Given the description of an element on the screen output the (x, y) to click on. 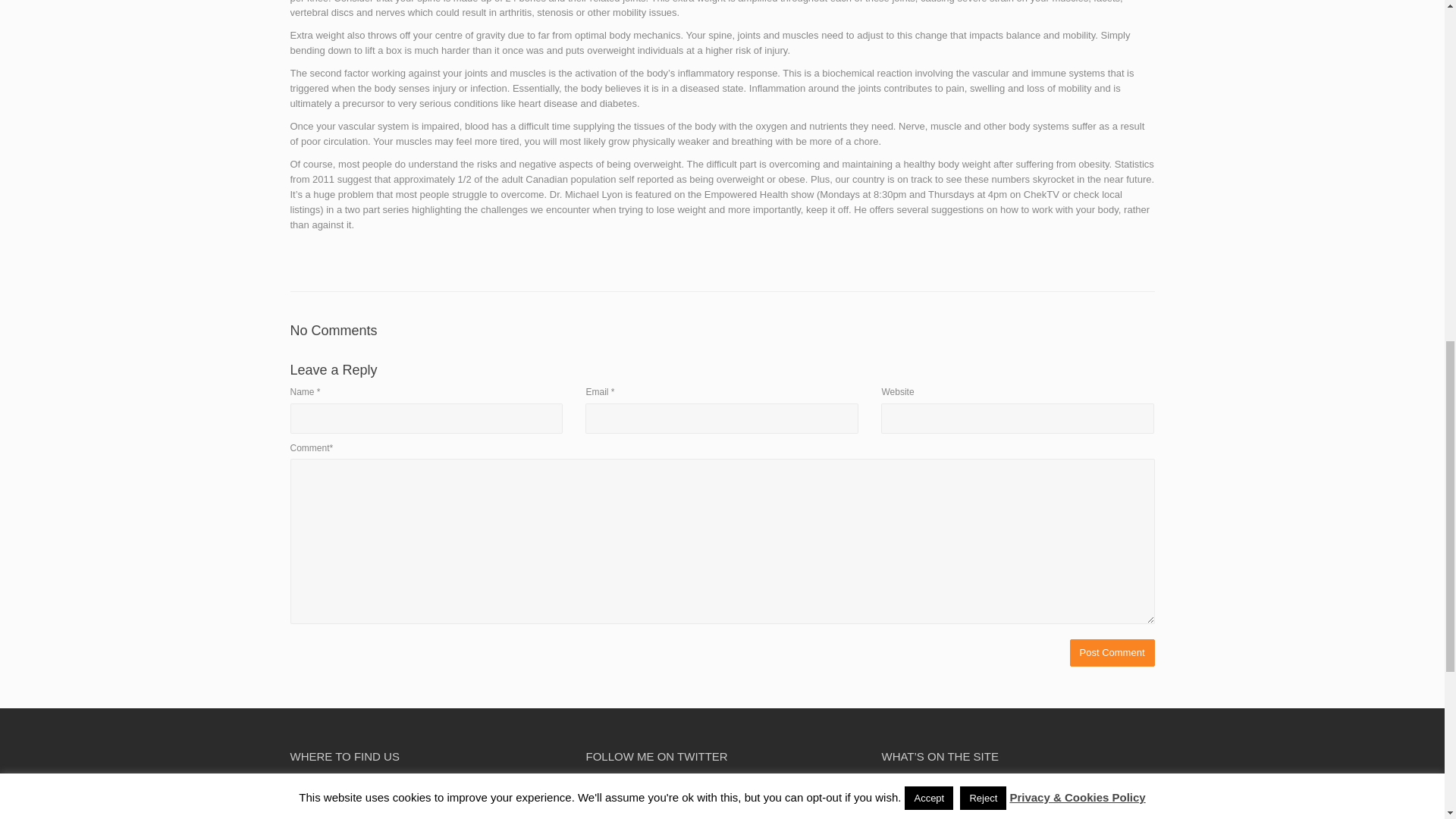
Post Comment (1112, 653)
